Given the description of an element on the screen output the (x, y) to click on. 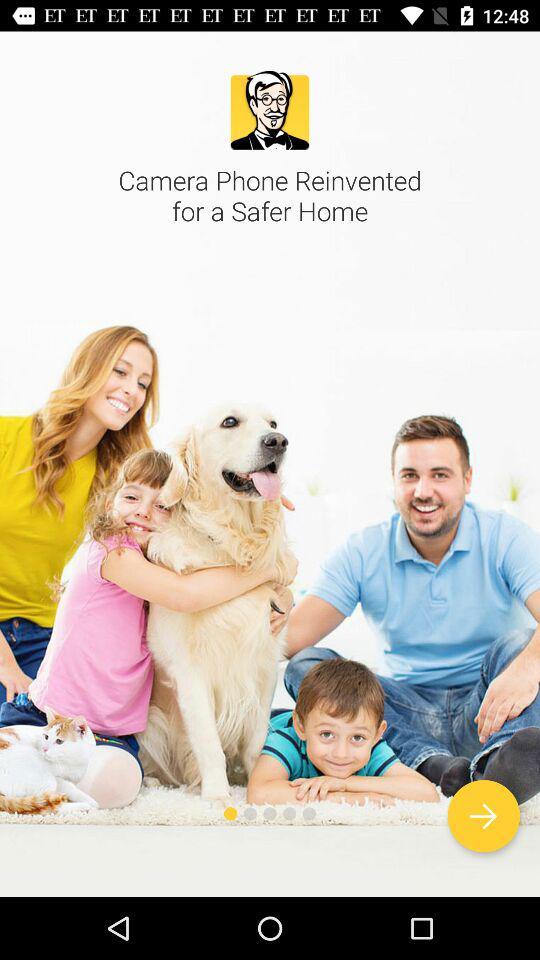
next (483, 816)
